Given the description of an element on the screen output the (x, y) to click on. 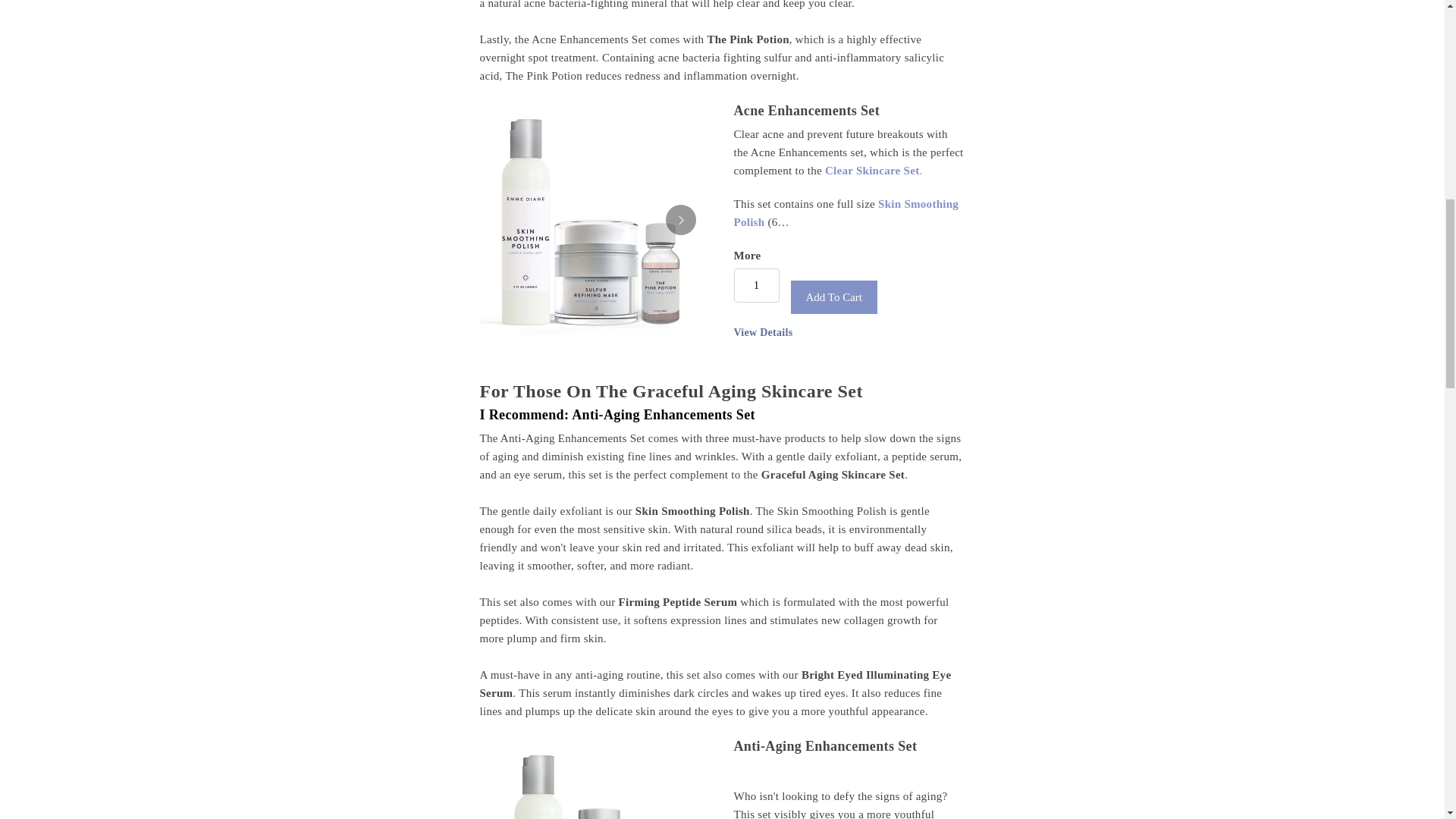
1 (755, 285)
Skin Smoothing Polish (846, 213)
Clear Skincare Set (871, 170)
